Given the description of an element on the screen output the (x, y) to click on. 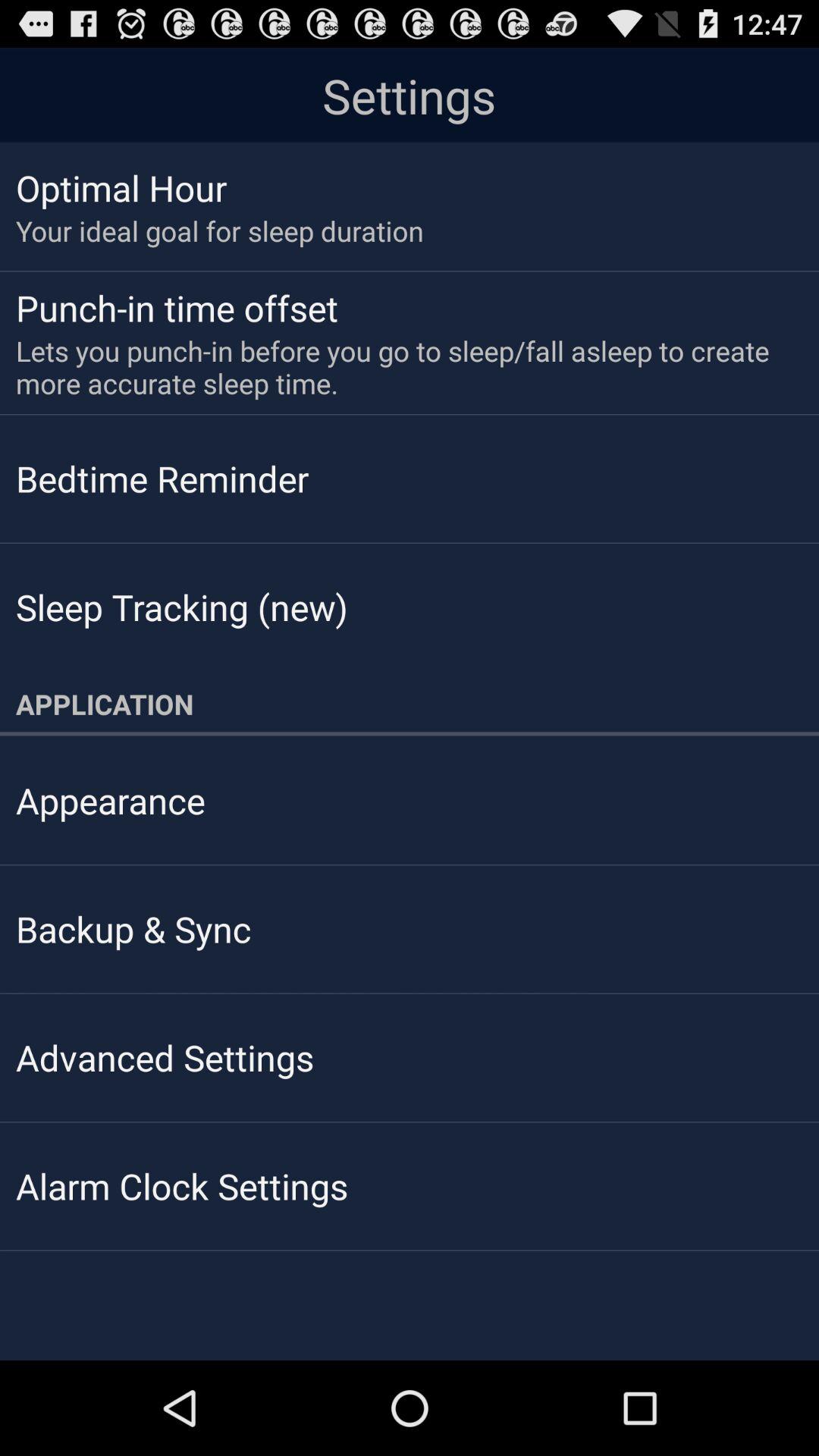
press lets you punch app (399, 367)
